Given the description of an element on the screen output the (x, y) to click on. 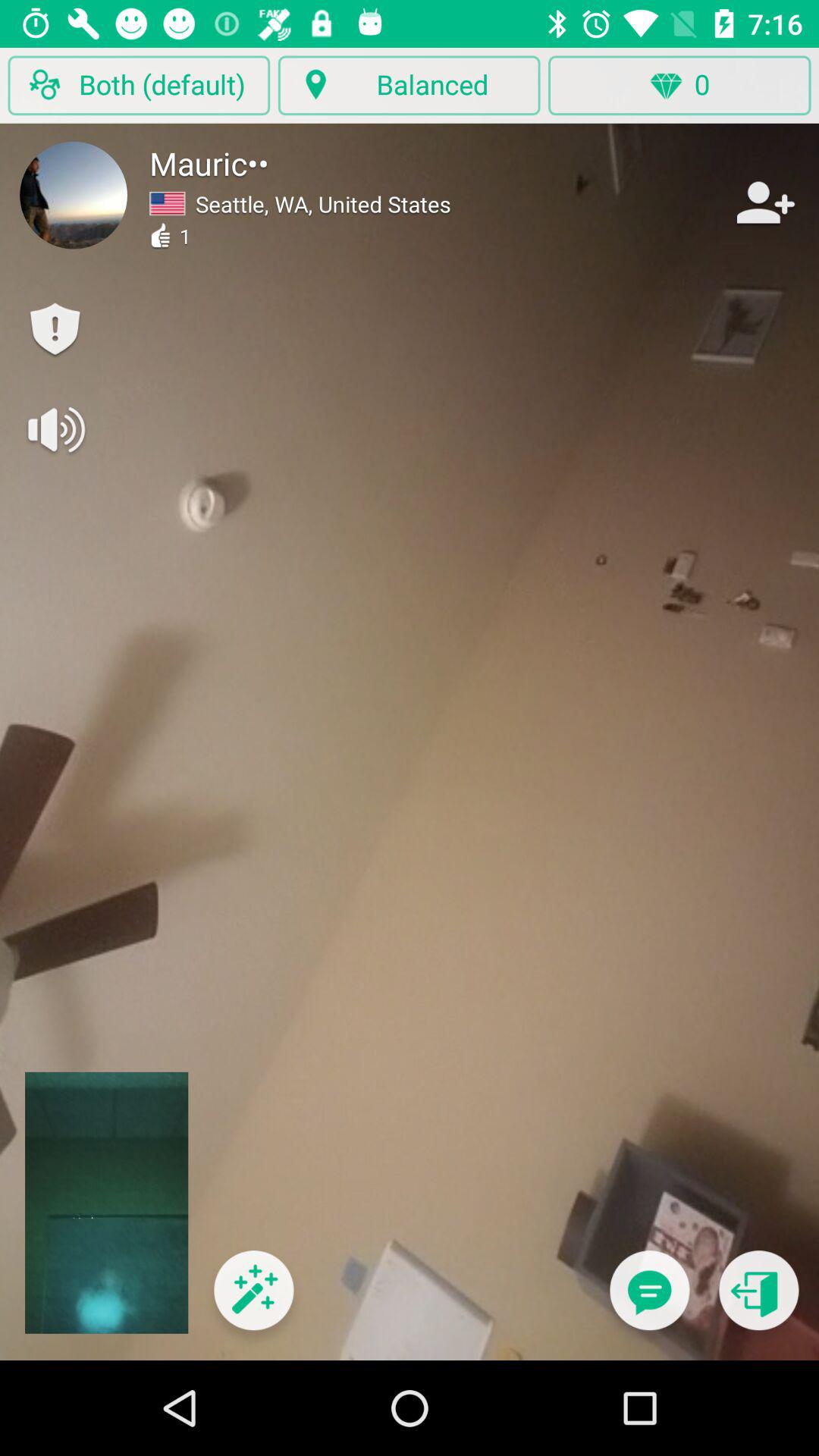
toggle volume (55, 429)
